Given the description of an element on the screen output the (x, y) to click on. 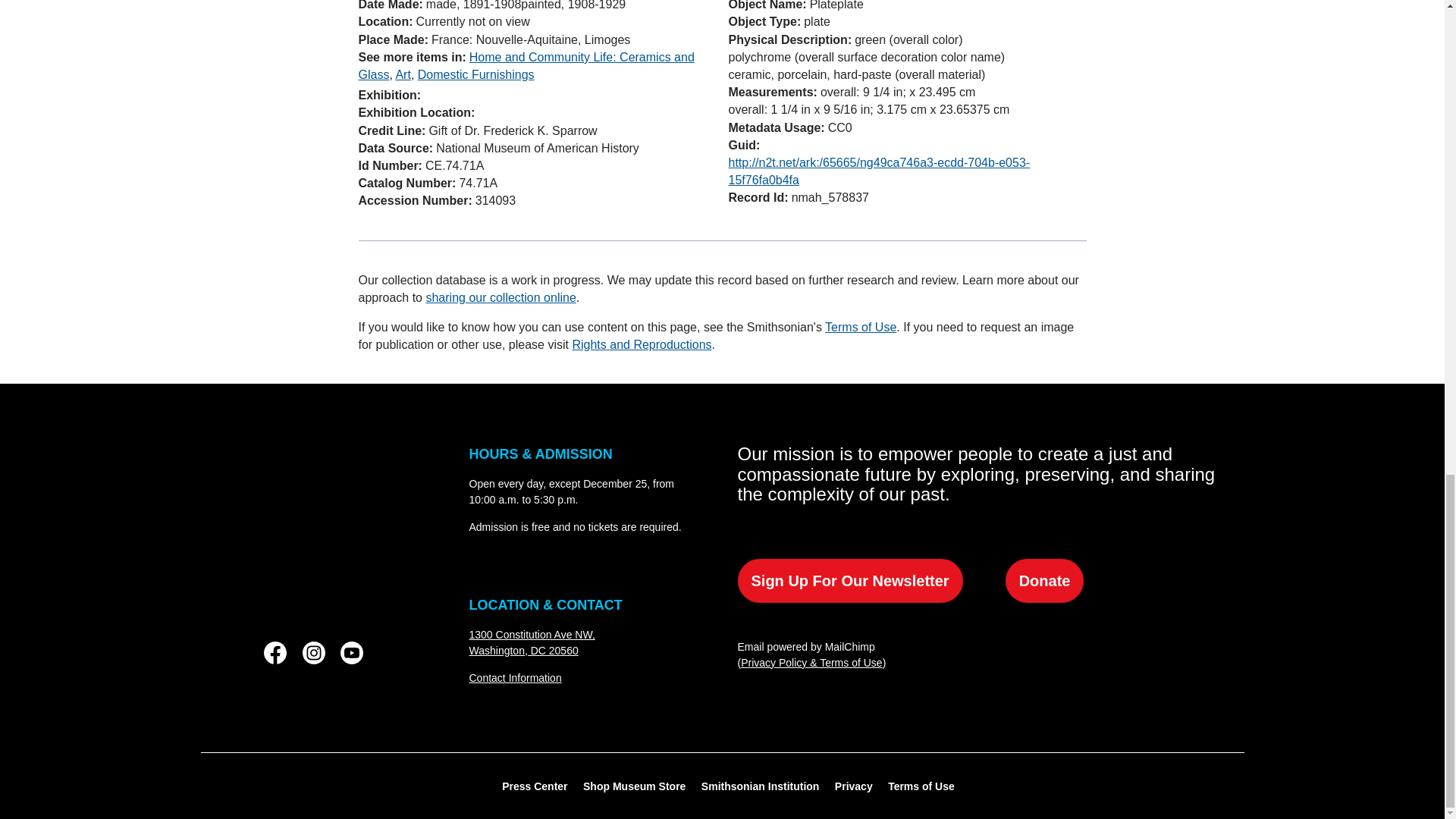
Facebook (274, 652)
Domestic Furnishings (475, 74)
Sign Up For Our Newsletter (849, 580)
Contact Information (514, 677)
sharing our collection online (500, 297)
Home and Community Life: Ceramics and Glass (531, 642)
Instagram (526, 65)
YouTube (312, 652)
Rights and Reproductions (351, 652)
Terms of Use (641, 344)
National Museum of American History (860, 327)
Art (319, 527)
